Given the description of an element on the screen output the (x, y) to click on. 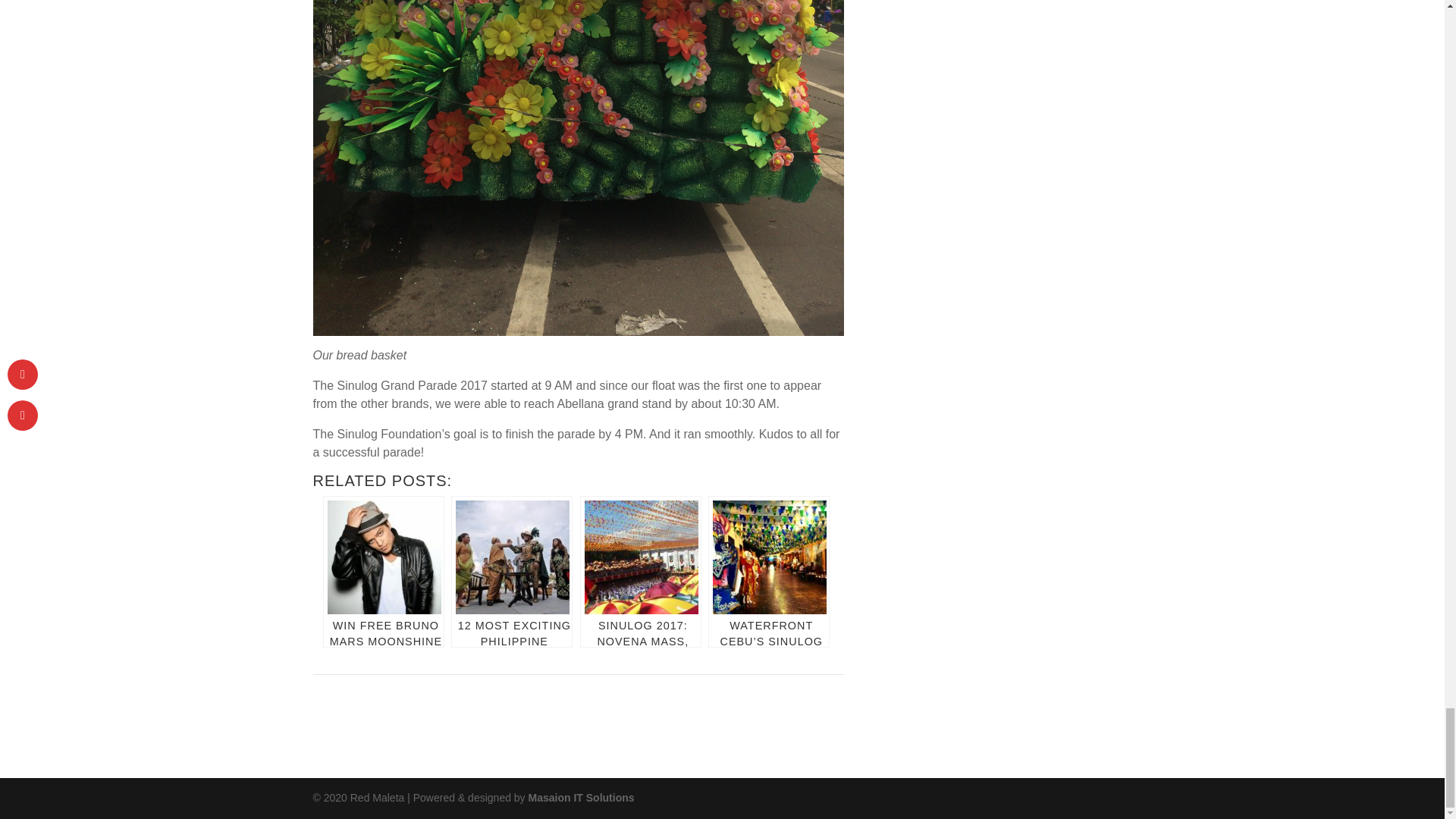
Win FREE Bruno Mars Moonshine Jungle Tour Concert Tickets (383, 571)
Sinulog 2017: Novena Mass, Procession and Grand Parade (640, 571)
SINULOG 2017: NOVENA MASS, PROCESSION AND GRAND PARADE (640, 571)
WIN FREE BRUNO MARS MOONSHINE JUNGLE TOUR CONCERT TICKETS (383, 571)
Masaion IT Solutions (581, 797)
